Given the description of an element on the screen output the (x, y) to click on. 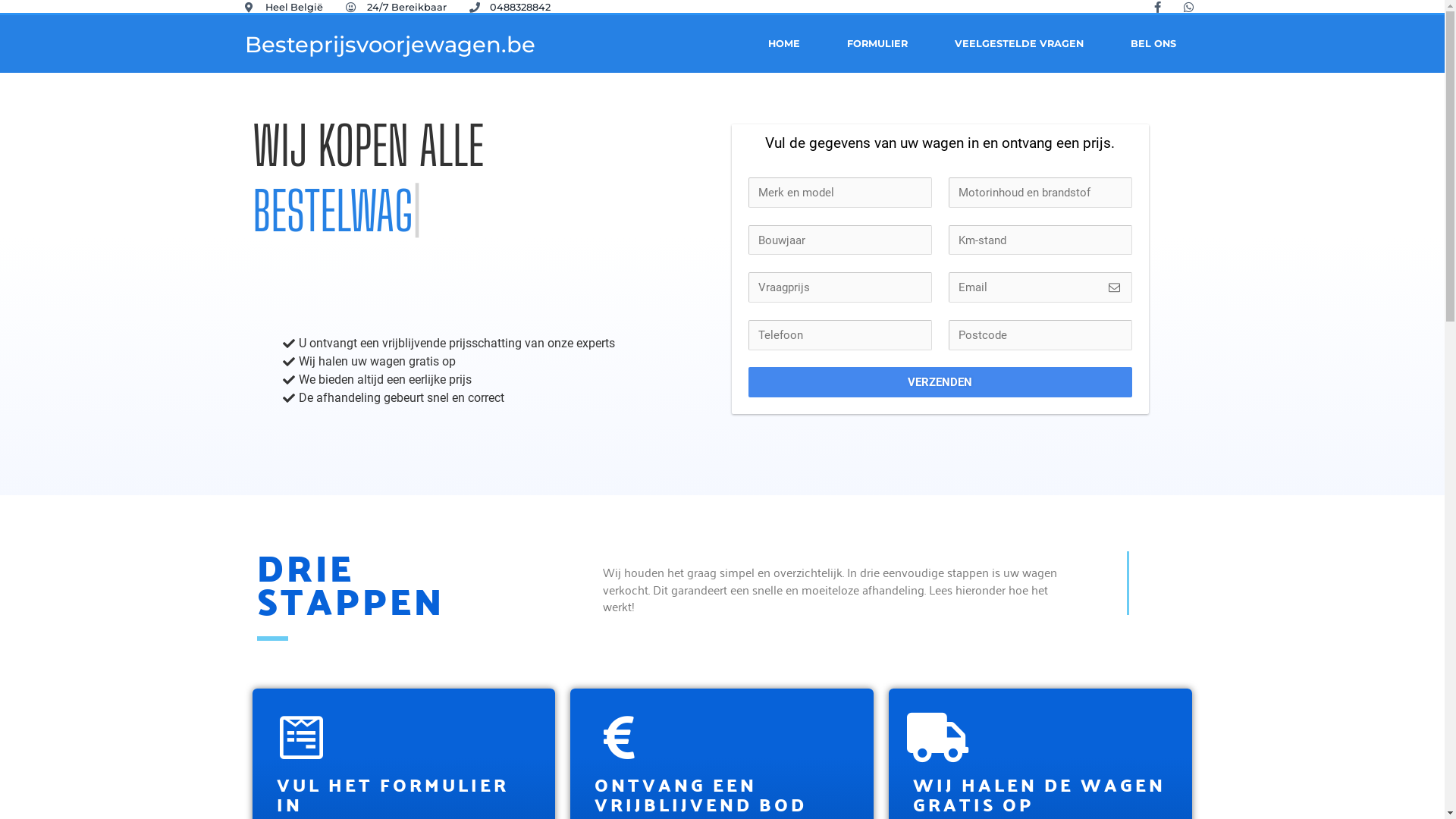
FORMULIER Element type: text (877, 43)
Besteprijsvoorjewagen.be Element type: text (389, 44)
HOME Element type: text (783, 43)
VEELGESTELDE VRAGEN Element type: text (1019, 43)
BEL ONS Element type: text (1153, 43)
VERZENDEN Element type: text (940, 382)
